Given the description of an element on the screen output the (x, y) to click on. 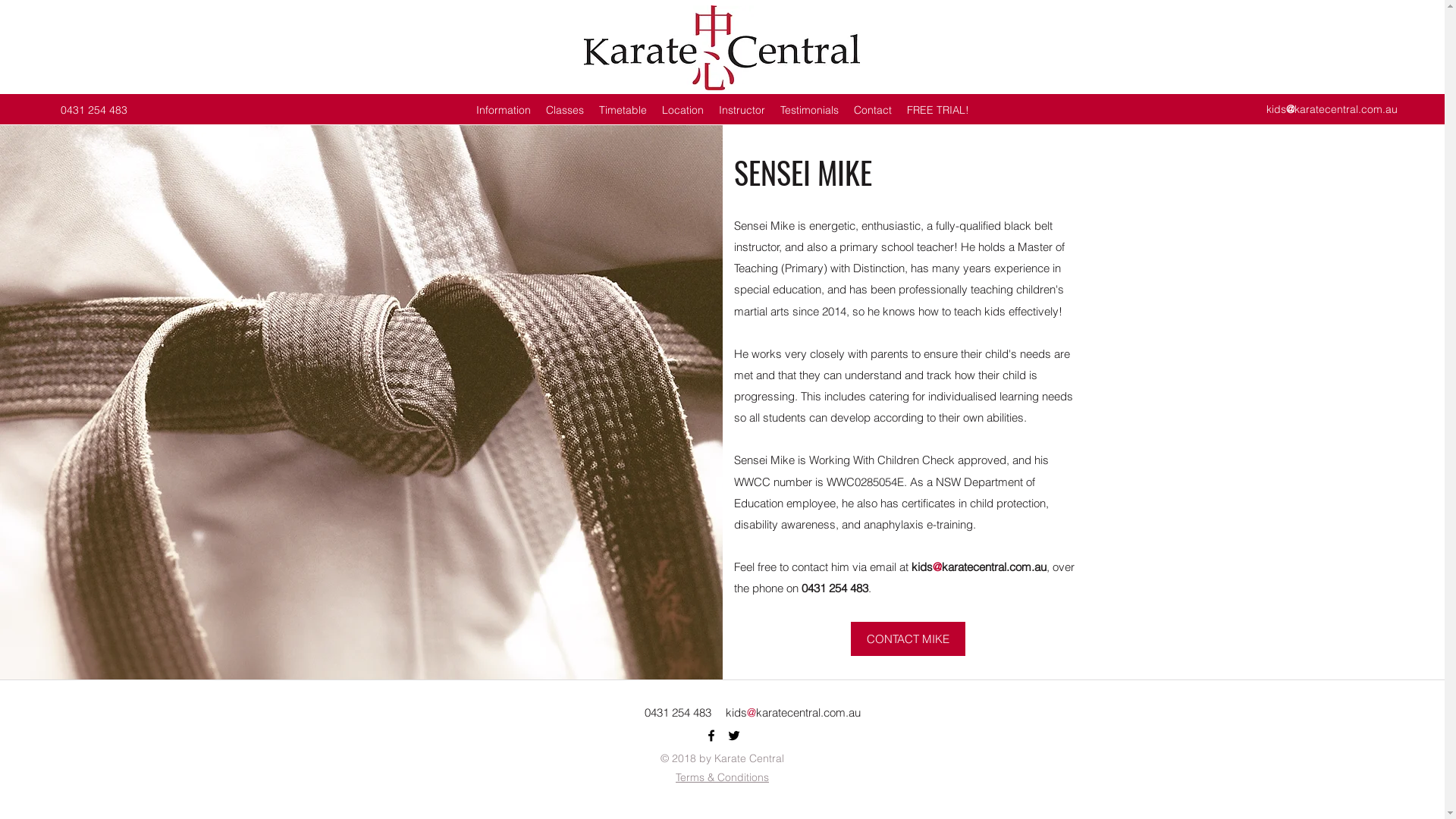
0431 254 483 Element type: text (833, 587)
Classes Element type: text (564, 109)
kids Element type: text (921, 566)
karatecentral.com.au Element type: text (993, 566)
FREE TRIAL! Element type: text (937, 109)
Terms & Conditions Element type: text (721, 777)
0431 254 483 Element type: text (93, 109)
0431 254 483 Element type: text (677, 712)
Instructor Element type: text (741, 109)
kids@karatecentral.com.au Element type: text (791, 712)
Location Element type: text (682, 109)
kids@karatecentral.com.au Element type: text (1331, 109)
CONTACT MIKE Element type: text (907, 638)
Testimonials Element type: text (809, 109)
@ Element type: text (936, 566)
Timetable Element type: text (622, 109)
Information Element type: text (503, 109)
Contact Element type: text (872, 109)
